Given the description of an element on the screen output the (x, y) to click on. 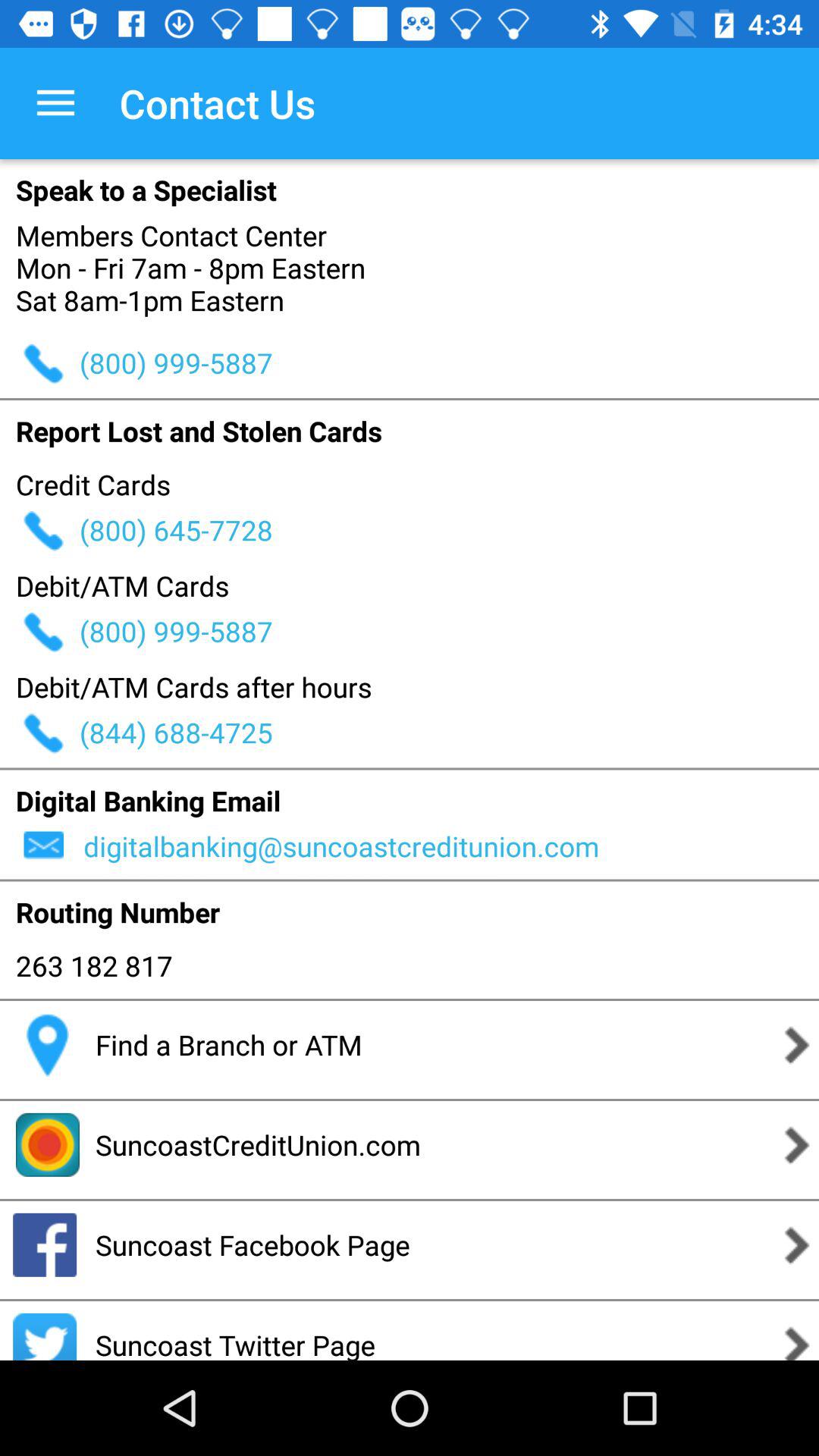
open the icon next to contact us icon (55, 103)
